Given the description of an element on the screen output the (x, y) to click on. 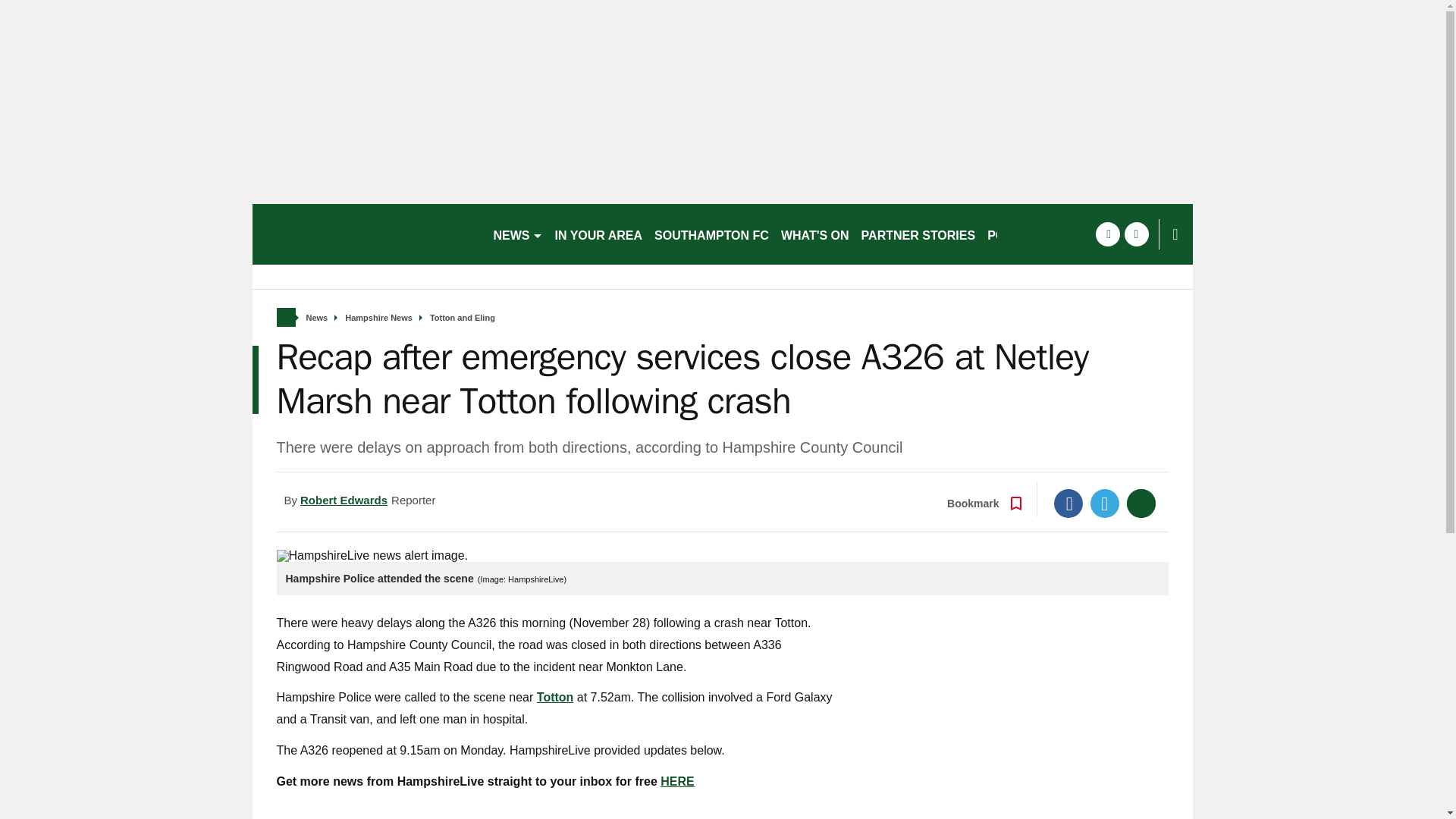
PORTSMOUTH FC (1040, 233)
NEWS (517, 233)
Twitter (1104, 502)
WHAT'S ON (815, 233)
PARTNER STORIES (918, 233)
twitter (1136, 233)
Facebook (1068, 502)
IN YOUR AREA (598, 233)
SOUTHAMPTON FC (710, 233)
facebook (1106, 233)
hampshirelive (365, 233)
